Given the description of an element on the screen output the (x, y) to click on. 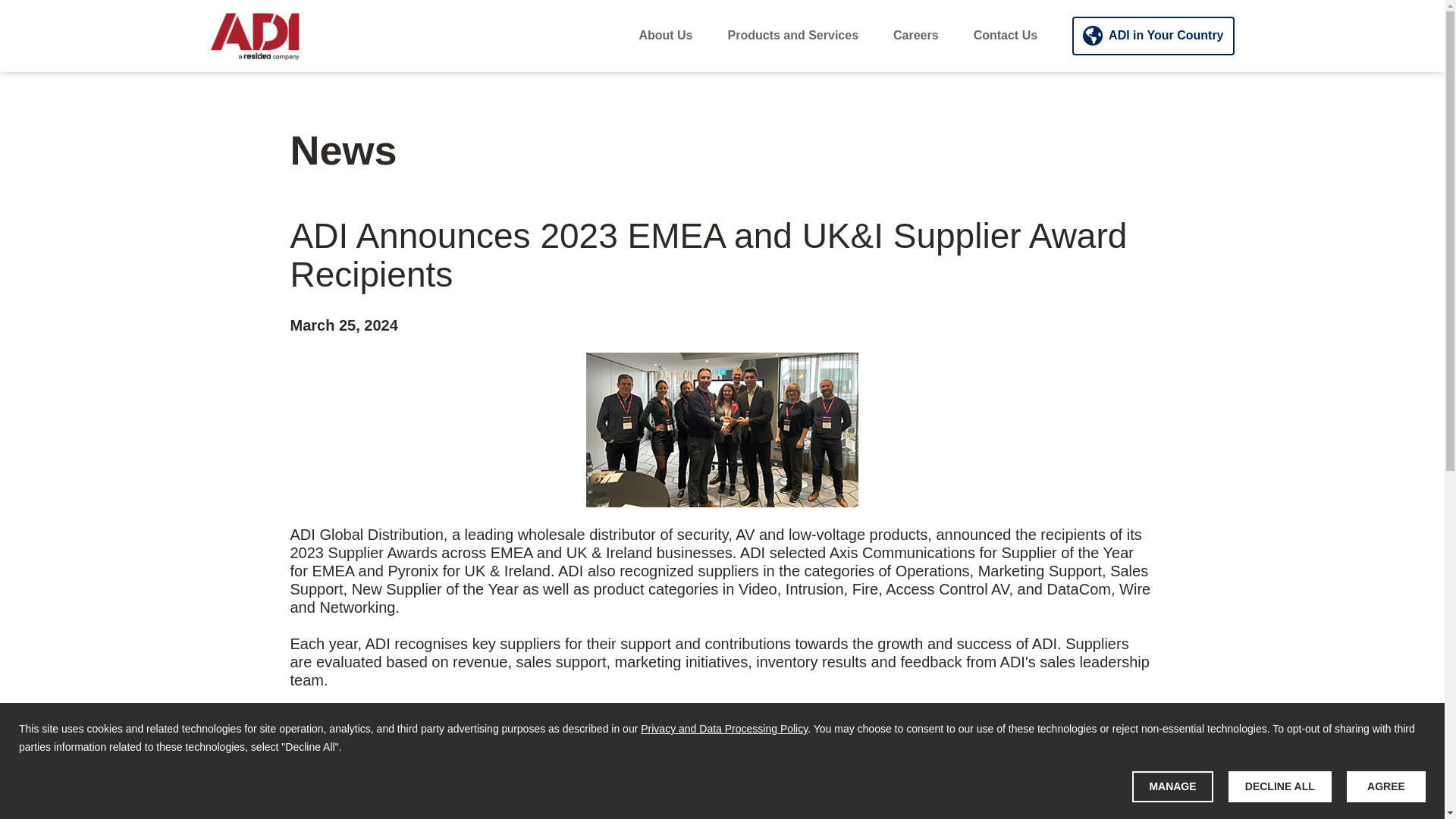
Careers (916, 35)
Homepage (255, 35)
Open country selector (1152, 35)
About Us (665, 35)
Products and Services (793, 35)
Contact Us (1005, 35)
ADI in Your Country (1152, 35)
